Given the description of an element on the screen output the (x, y) to click on. 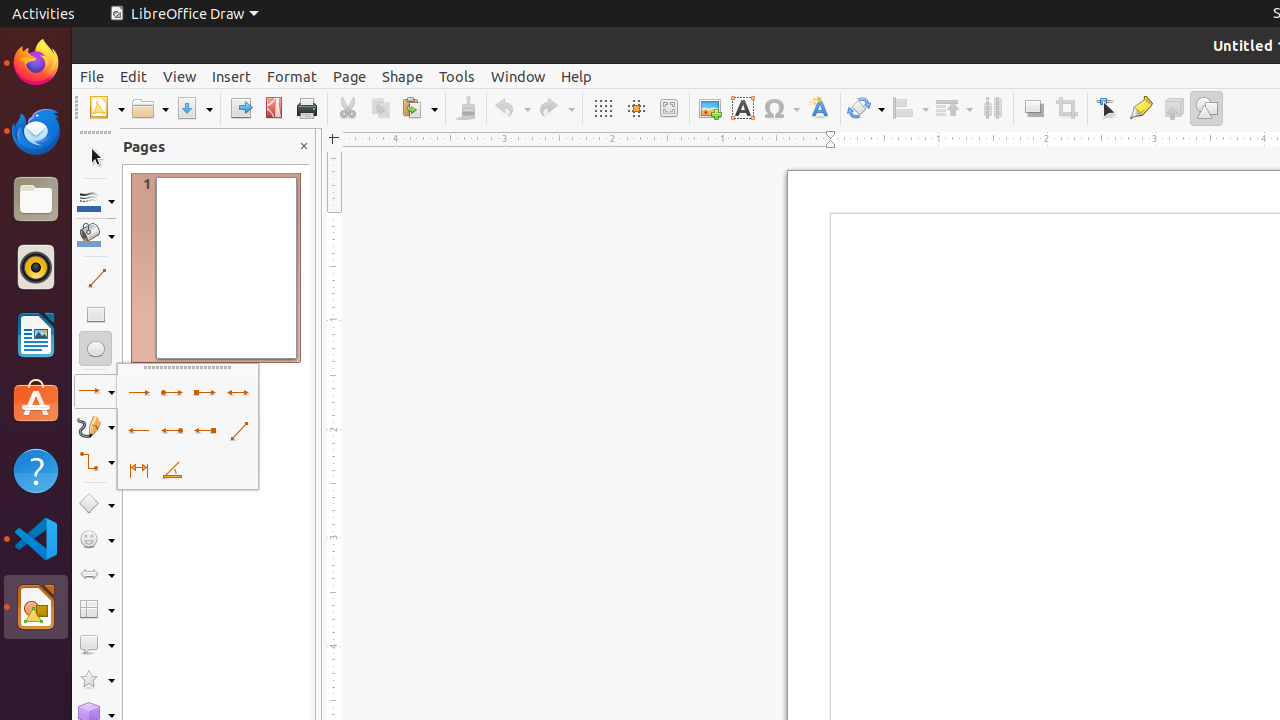
Transformations Element type: push-button (866, 108)
Copy Element type: push-button (380, 108)
Shape Element type: menu (402, 76)
Files Element type: push-button (36, 199)
